Given the description of an element on the screen output the (x, y) to click on. 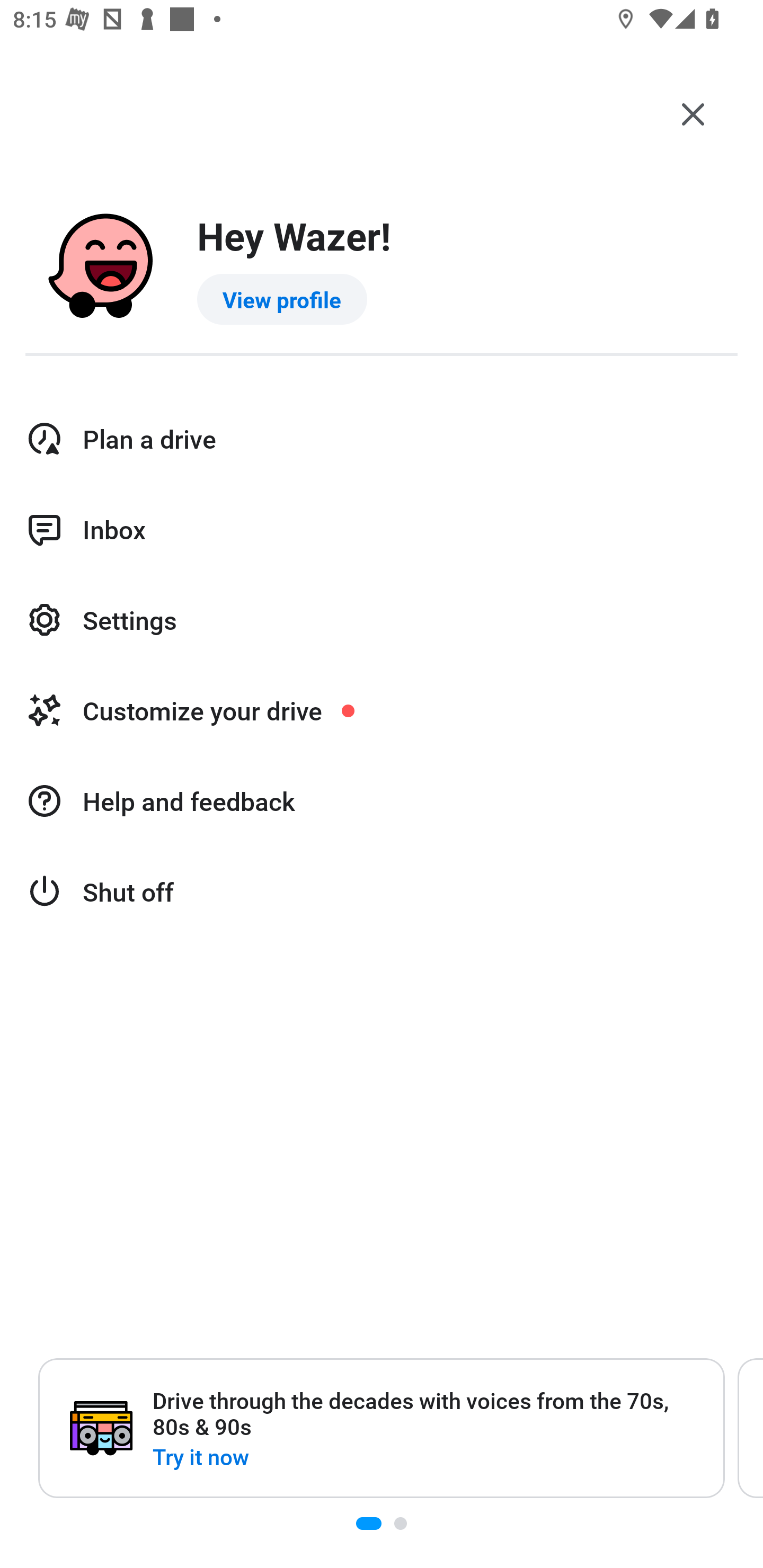
Hey Wazer! View profile (381, 266)
View profile (281, 299)
ACTION_CELL_ICON Plan a drive ACTION_CELL_TEXT (381, 438)
ACTION_CELL_ICON Inbox ACTION_CELL_TEXT (381, 529)
ACTION_CELL_ICON Settings ACTION_CELL_TEXT (381, 620)
ACTION_CELL_ICON Shut off ACTION_CELL_TEXT (381, 891)
